Given the description of an element on the screen output the (x, y) to click on. 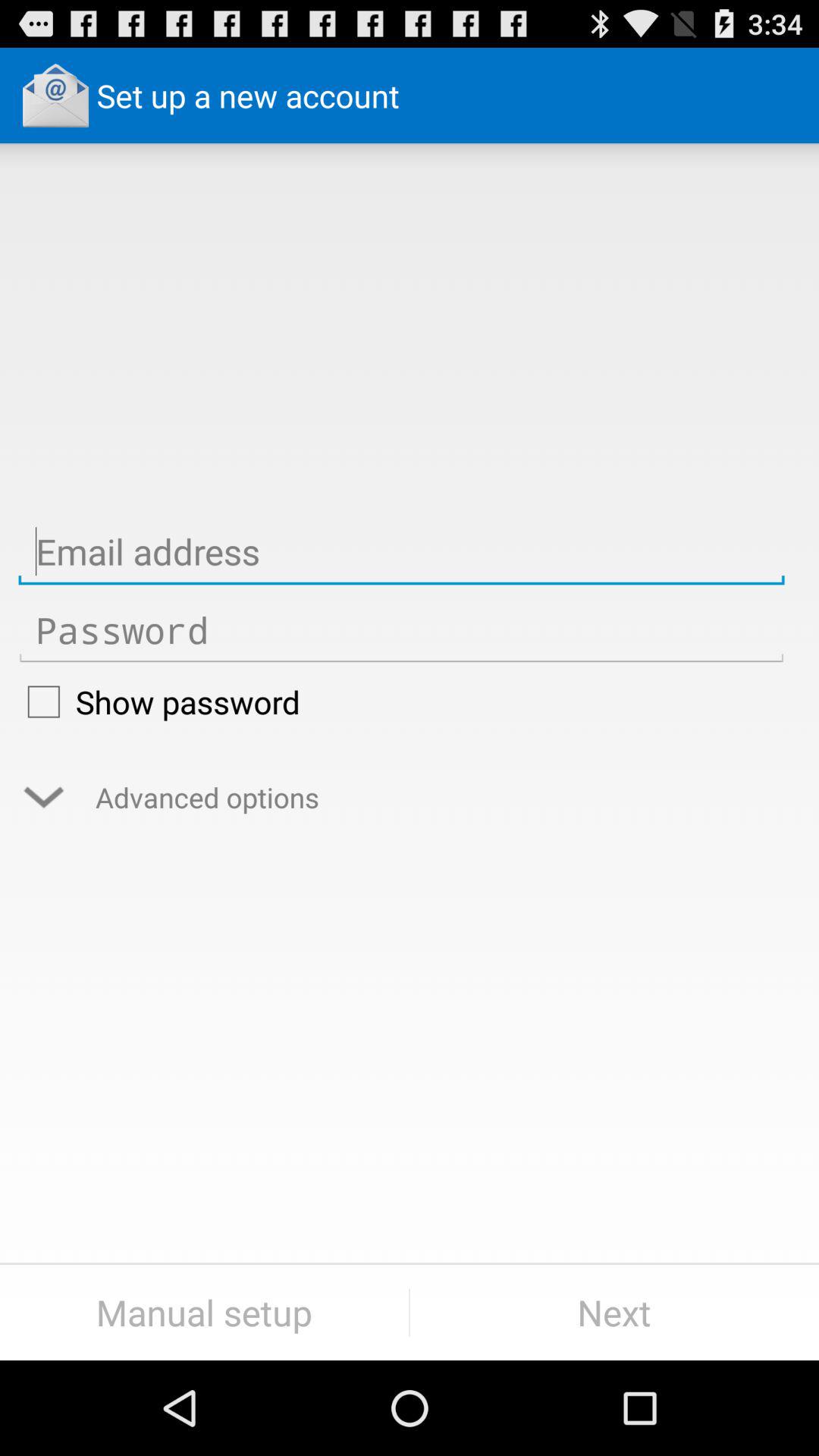
swipe until show password checkbox (401, 701)
